Given the description of an element on the screen output the (x, y) to click on. 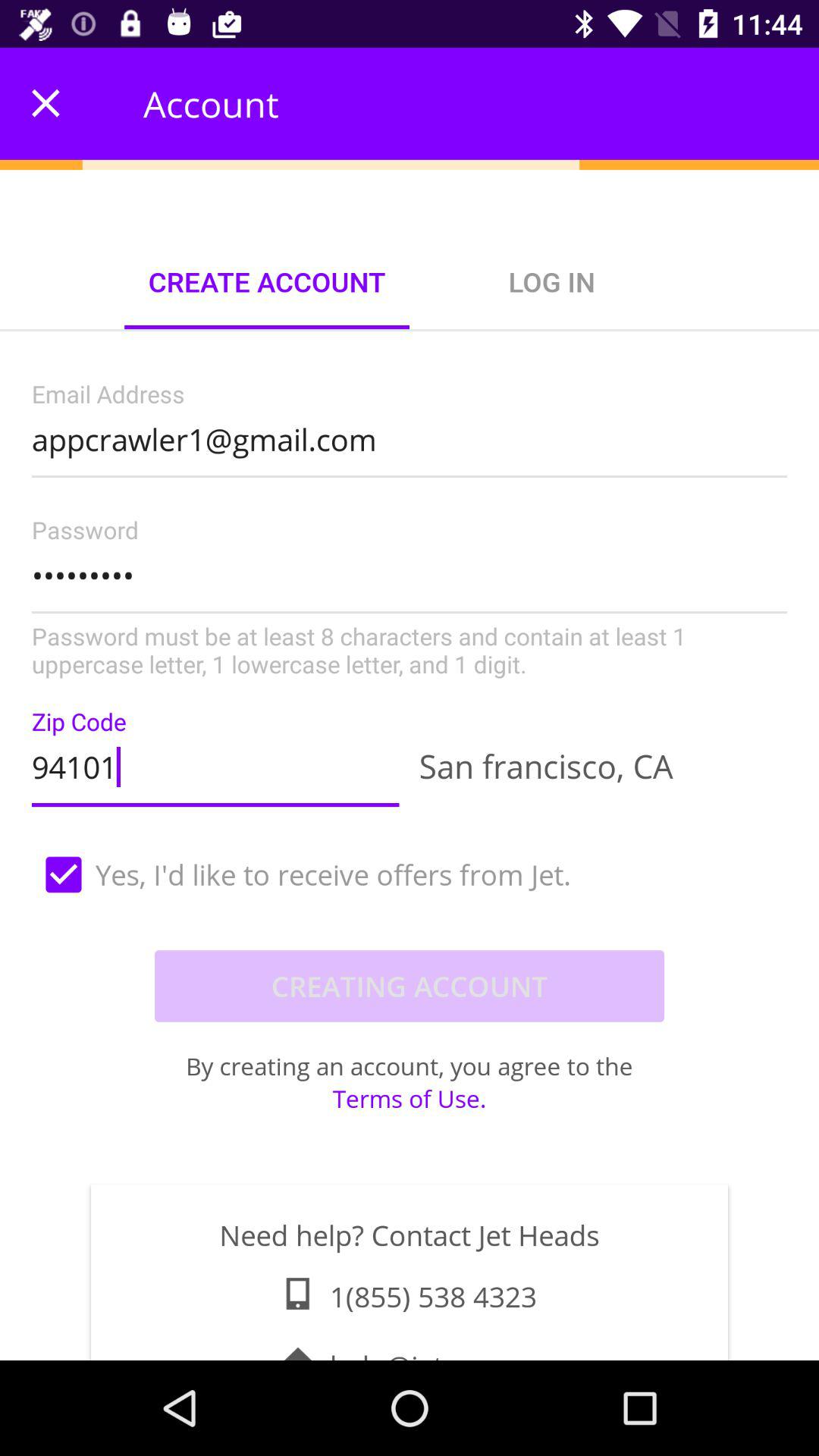
swipe until terms of use. item (409, 1098)
